Given the description of an element on the screen output the (x, y) to click on. 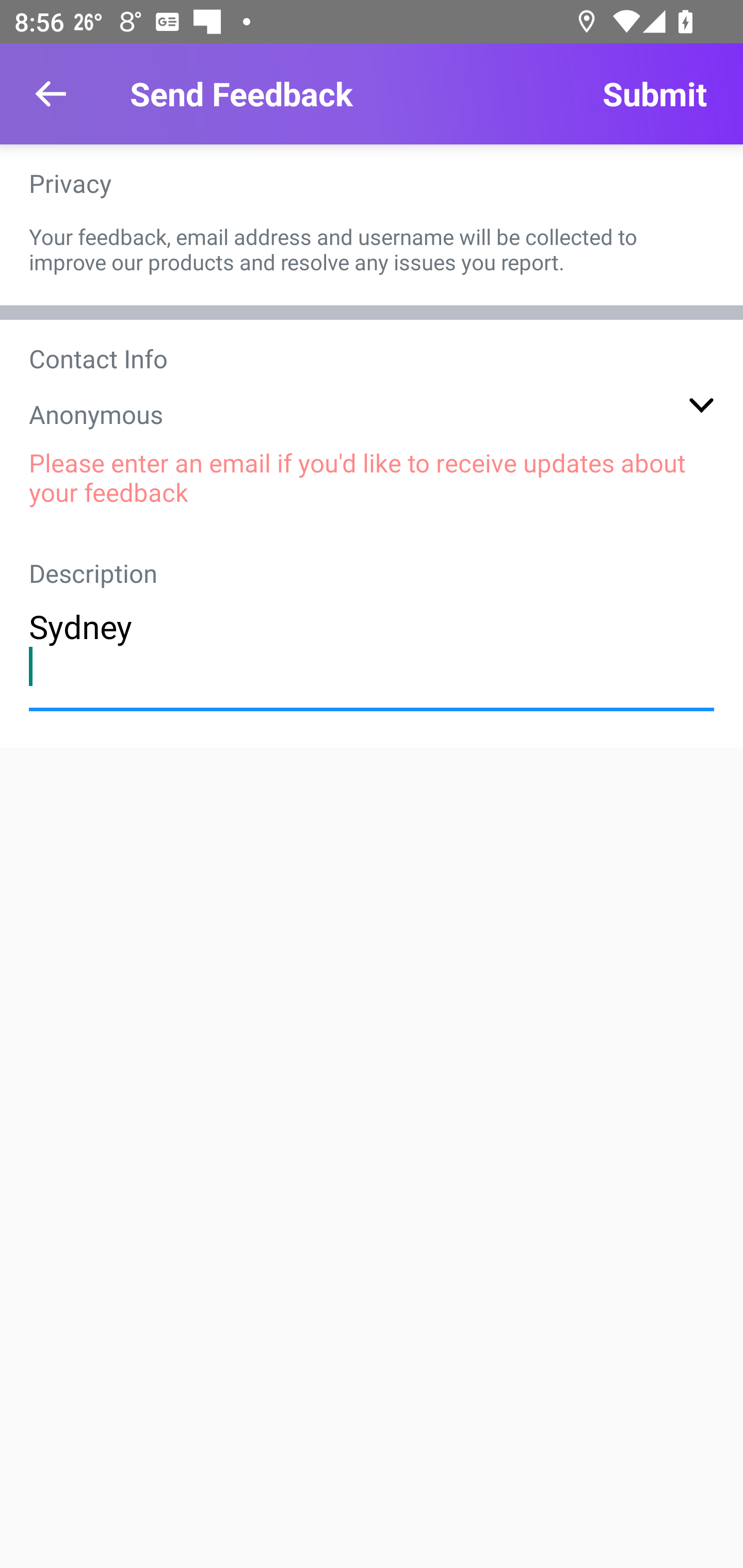
Navigate up (50, 93)
Submit (654, 94)
Anonymous (371, 413)
Sydney
 feedback (371, 645)
